Given the description of an element on the screen output the (x, y) to click on. 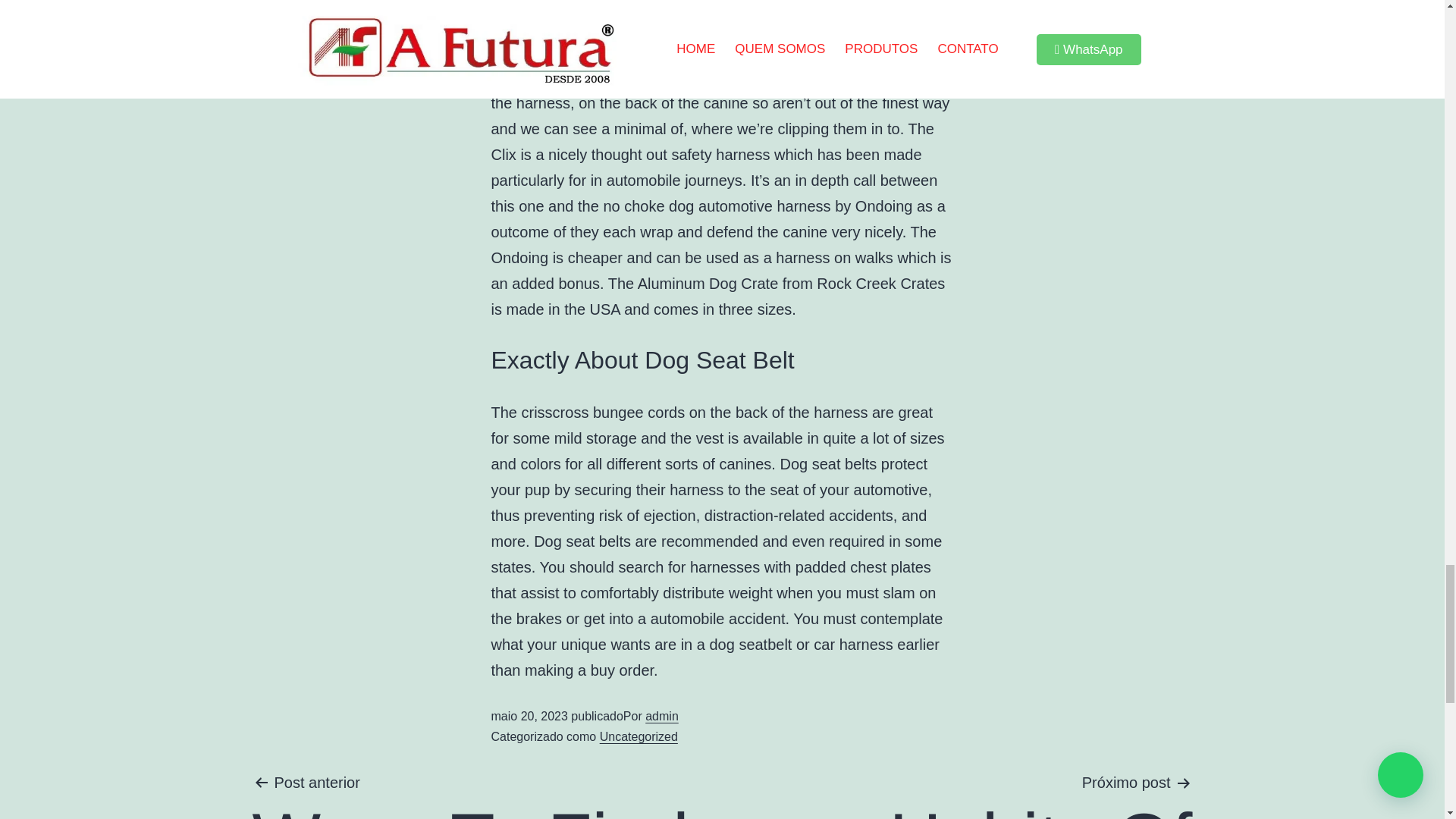
Uncategorized (482, 794)
admin (638, 736)
